Given the description of an element on the screen output the (x, y) to click on. 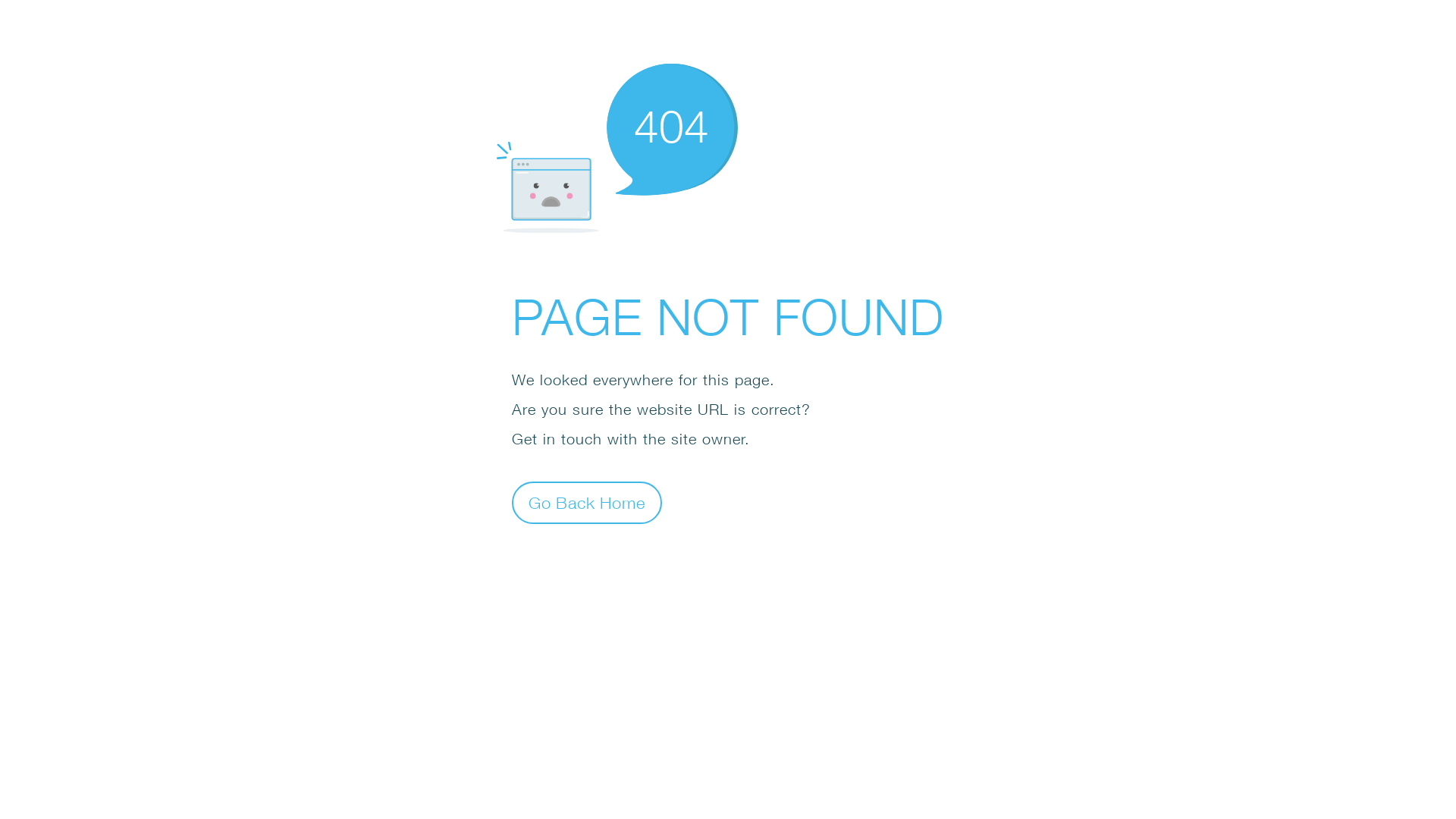
Go Back Home Element type: text (586, 502)
